Given the description of an element on the screen output the (x, y) to click on. 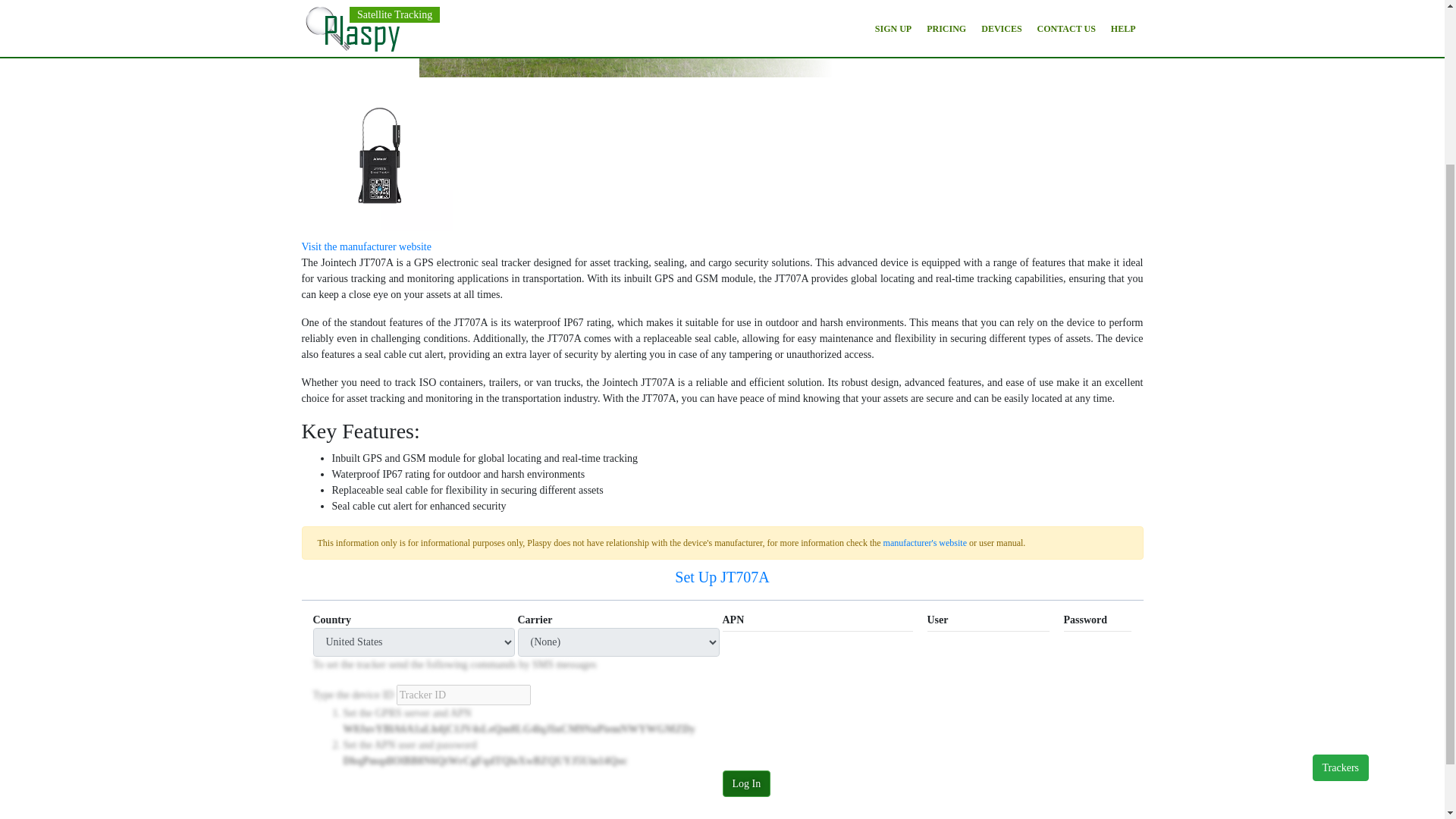
manufacturer's website (924, 542)
Visit the manufacturer website (365, 246)
Demo (820, 13)
Trackers (1340, 558)
Start Your Free Month (710, 14)
Trackers (1340, 558)
Log In (746, 783)
